Given the description of an element on the screen output the (x, y) to click on. 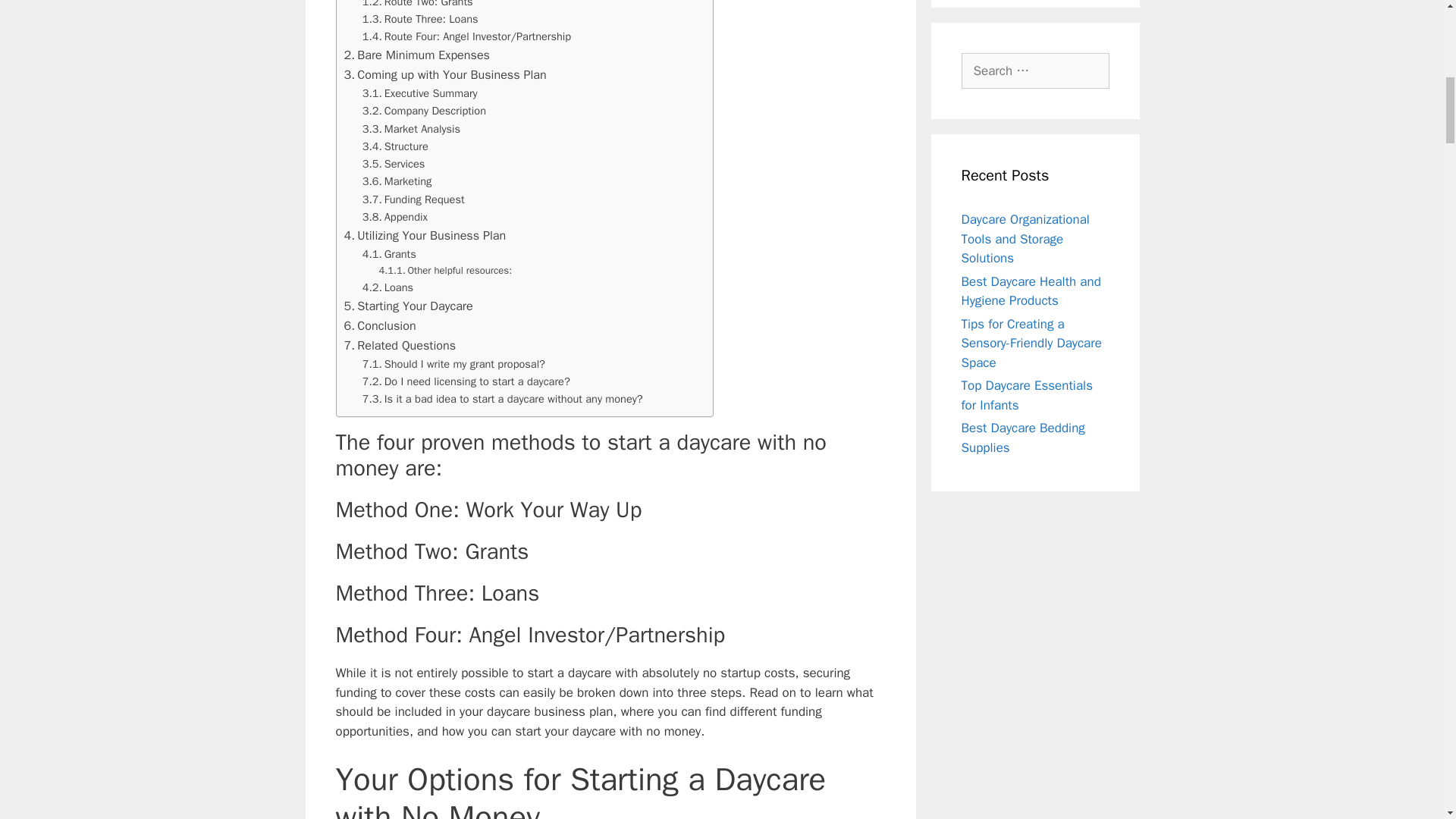
Marketing (397, 181)
Bare Minimum Expenses (416, 55)
Executive Summary (419, 93)
Related Questions (400, 345)
Structure (395, 146)
Company Description (424, 110)
Route Two: Grants (417, 5)
Coming up with Your Business Plan (445, 75)
Funding Request (413, 199)
Conclusion (379, 325)
